Given the description of an element on the screen output the (x, y) to click on. 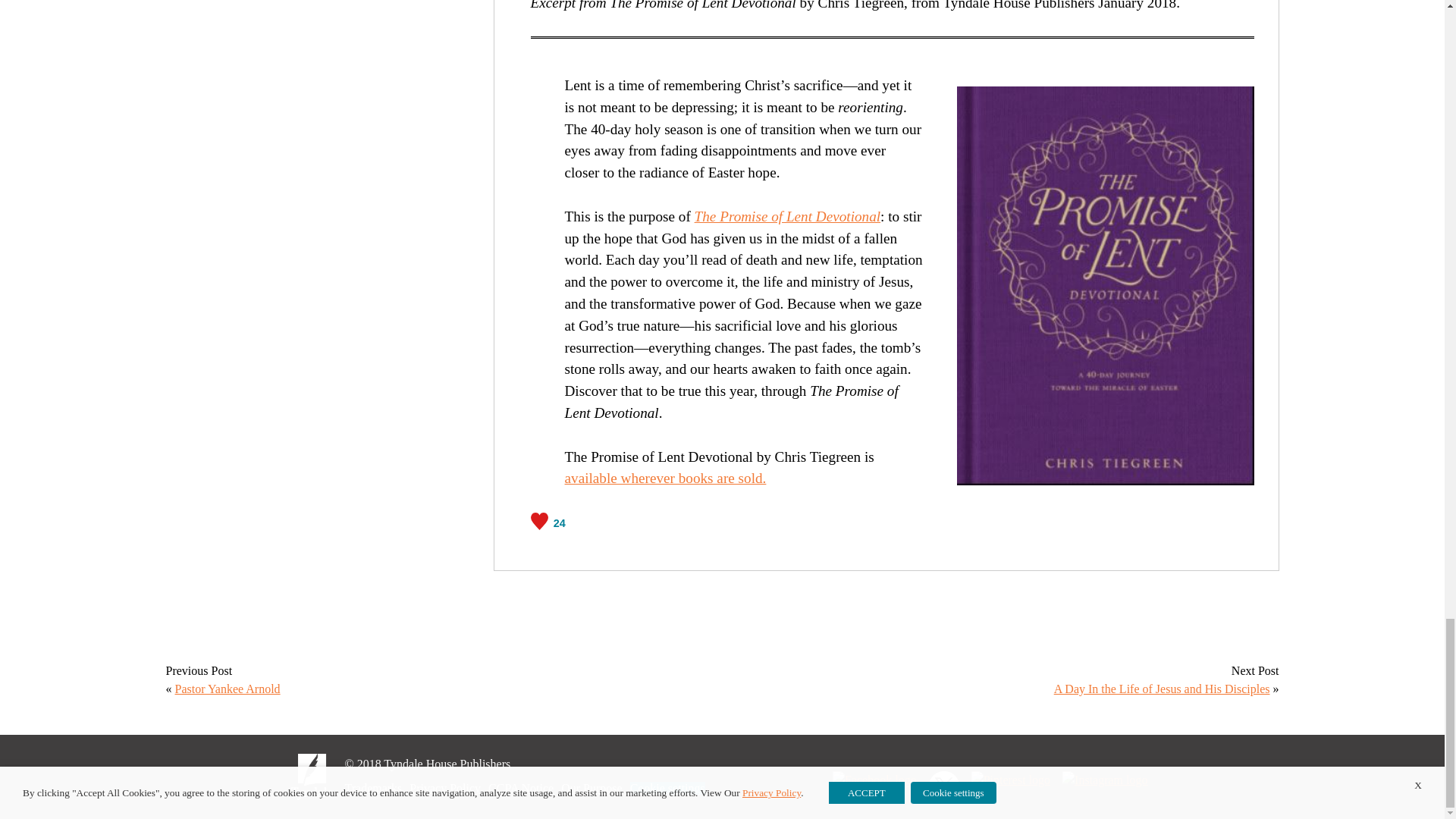
CCPA Notice (520, 788)
Cookie settings (667, 788)
A Day In the Life of Jesus and His Disciples (1161, 688)
Trademarks (372, 788)
Pastor Yankee Arnold (226, 688)
available wherever books are sold. (665, 478)
The Promise of Lent Devotional (787, 216)
Unlike (548, 520)
Our Purpose (590, 788)
Privacy Policy (444, 788)
